Given the description of an element on the screen output the (x, y) to click on. 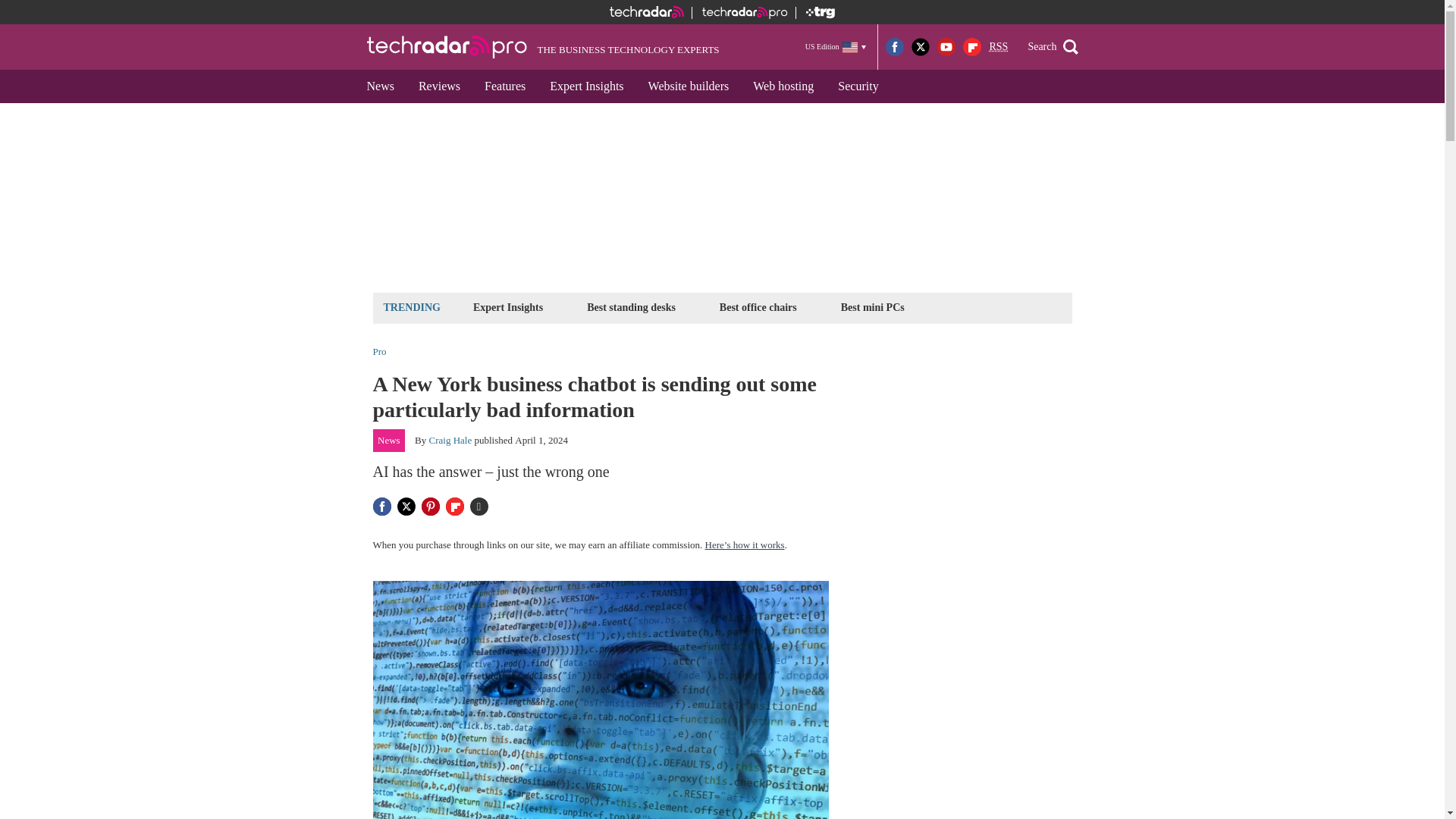
Security (857, 86)
THE BUSINESS TECHNOLOGY EXPERTS (542, 46)
Really Simple Syndication (997, 46)
Expert Insights (585, 86)
Reviews (438, 86)
US Edition (836, 46)
Features (504, 86)
Web hosting (783, 86)
Expert Insights (507, 307)
Website builders (688, 86)
